Given the description of an element on the screen output the (x, y) to click on. 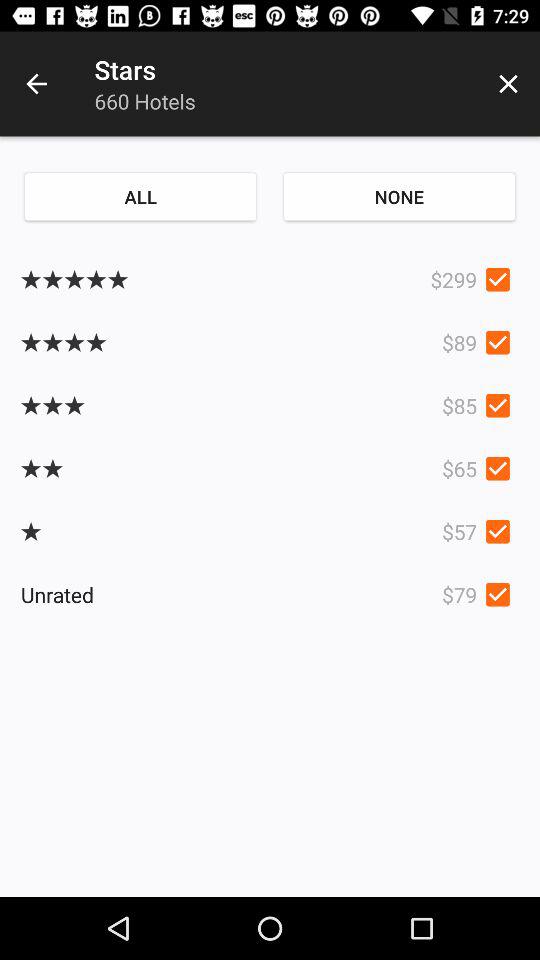
tap the item to the right of the 660 hotels icon (508, 83)
